Given the description of an element on the screen output the (x, y) to click on. 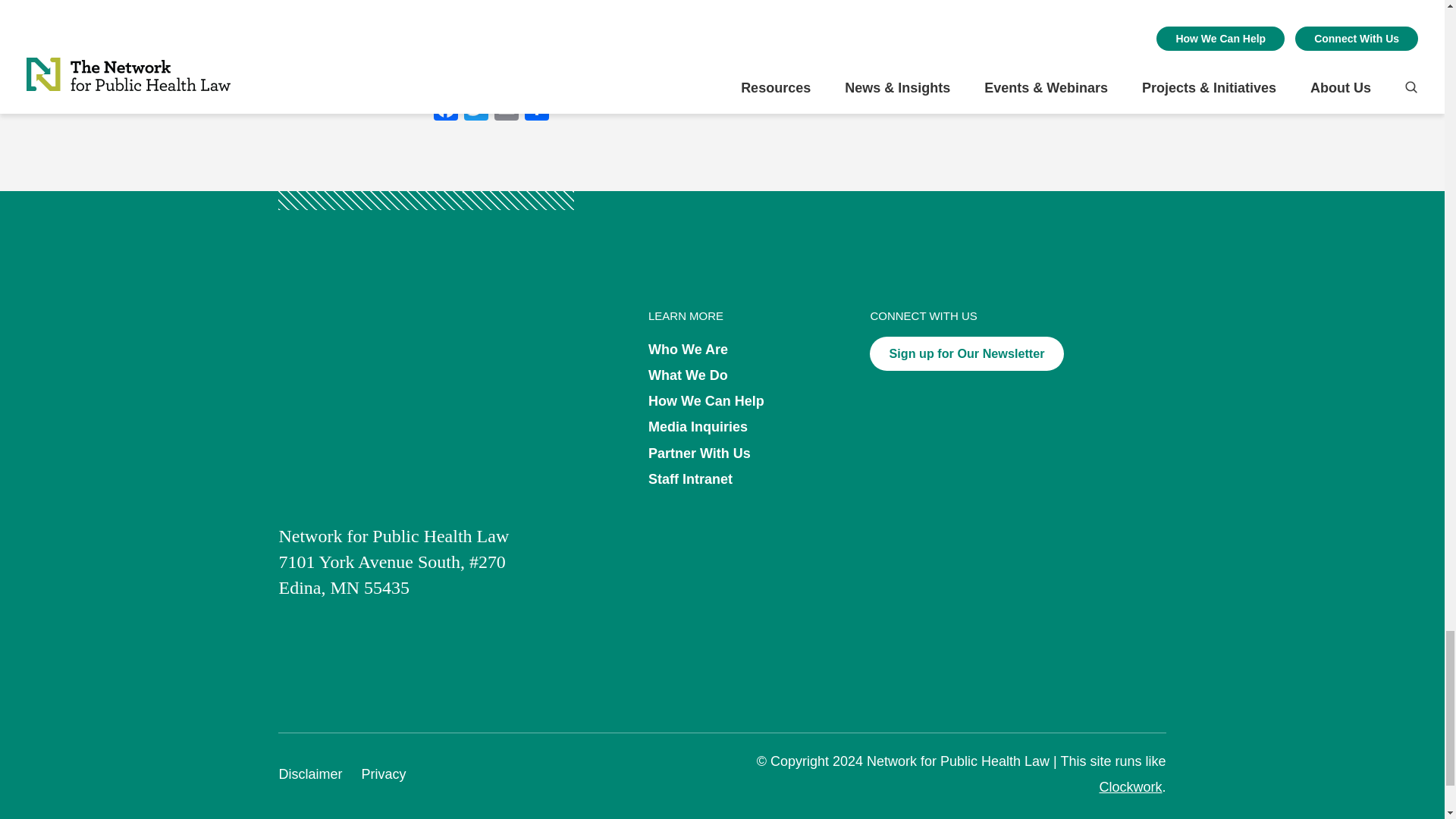
Email (506, 109)
Twitter (476, 109)
Facebook (445, 109)
